Given the description of an element on the screen output the (x, y) to click on. 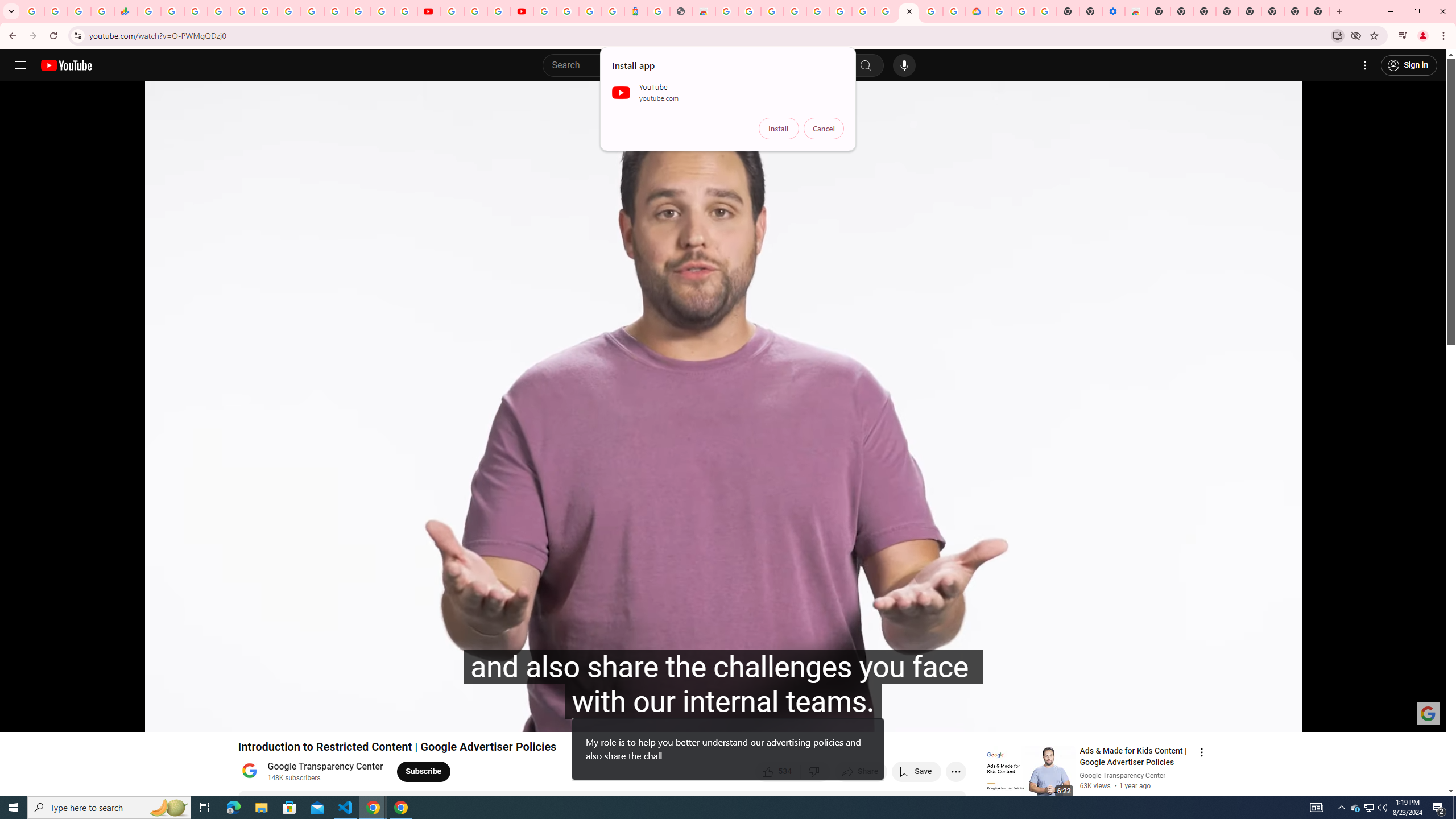
Browse the Google Chrome Community - Google Chrome Community (954, 11)
Chrome Web Store - Household (703, 11)
Ad Settings (794, 11)
Next (SHIFT+n) (46, 718)
YouTube (451, 11)
